Given the description of an element on the screen output the (x, y) to click on. 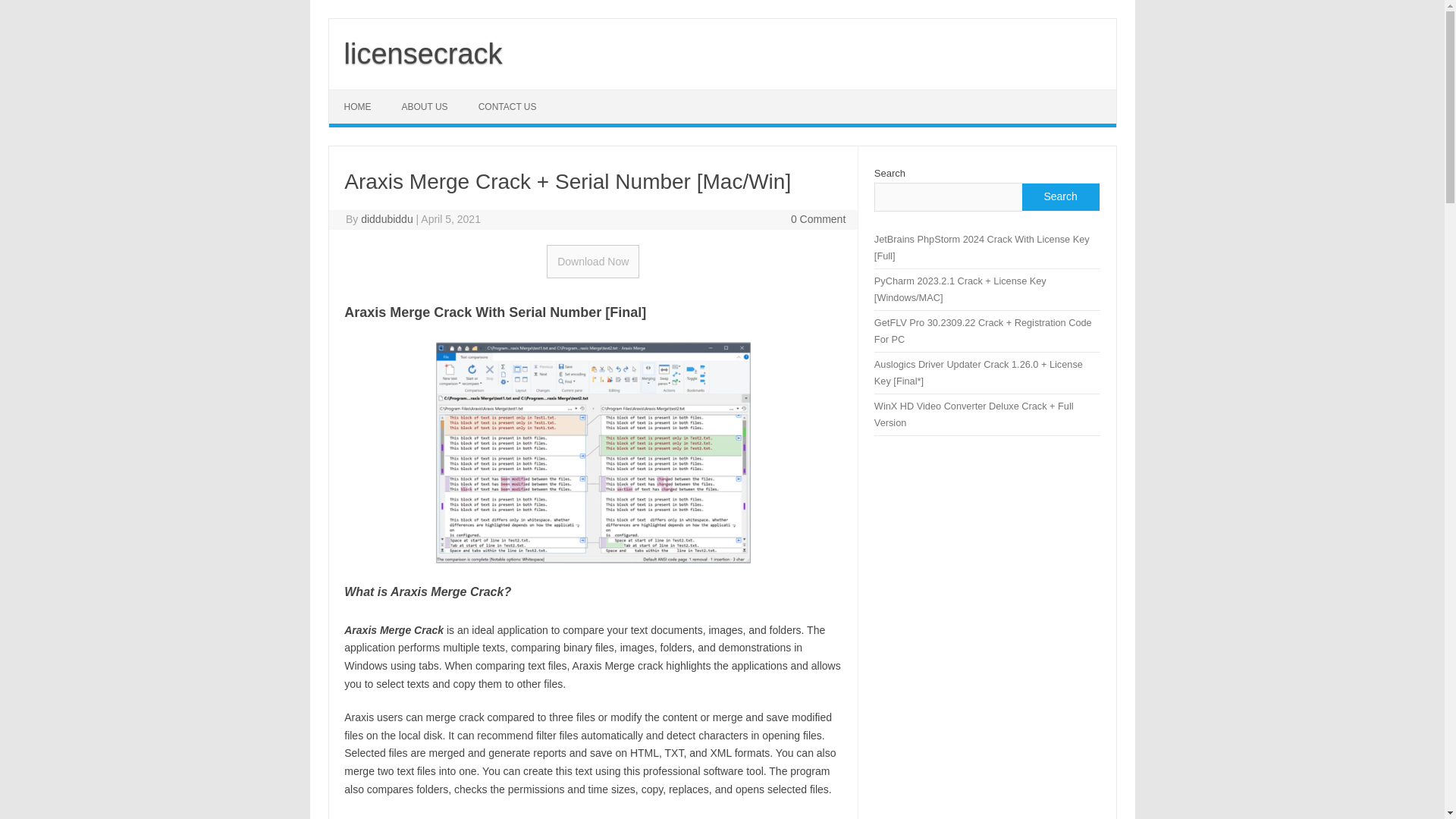
Posts by diddubiddu (387, 218)
diddubiddu (387, 218)
Search (1059, 196)
Download Now (593, 261)
ABOUT US (425, 106)
licensecrack (422, 53)
CONTACT US (507, 106)
licensecrack (422, 53)
Download Now (593, 261)
